Given the description of an element on the screen output the (x, y) to click on. 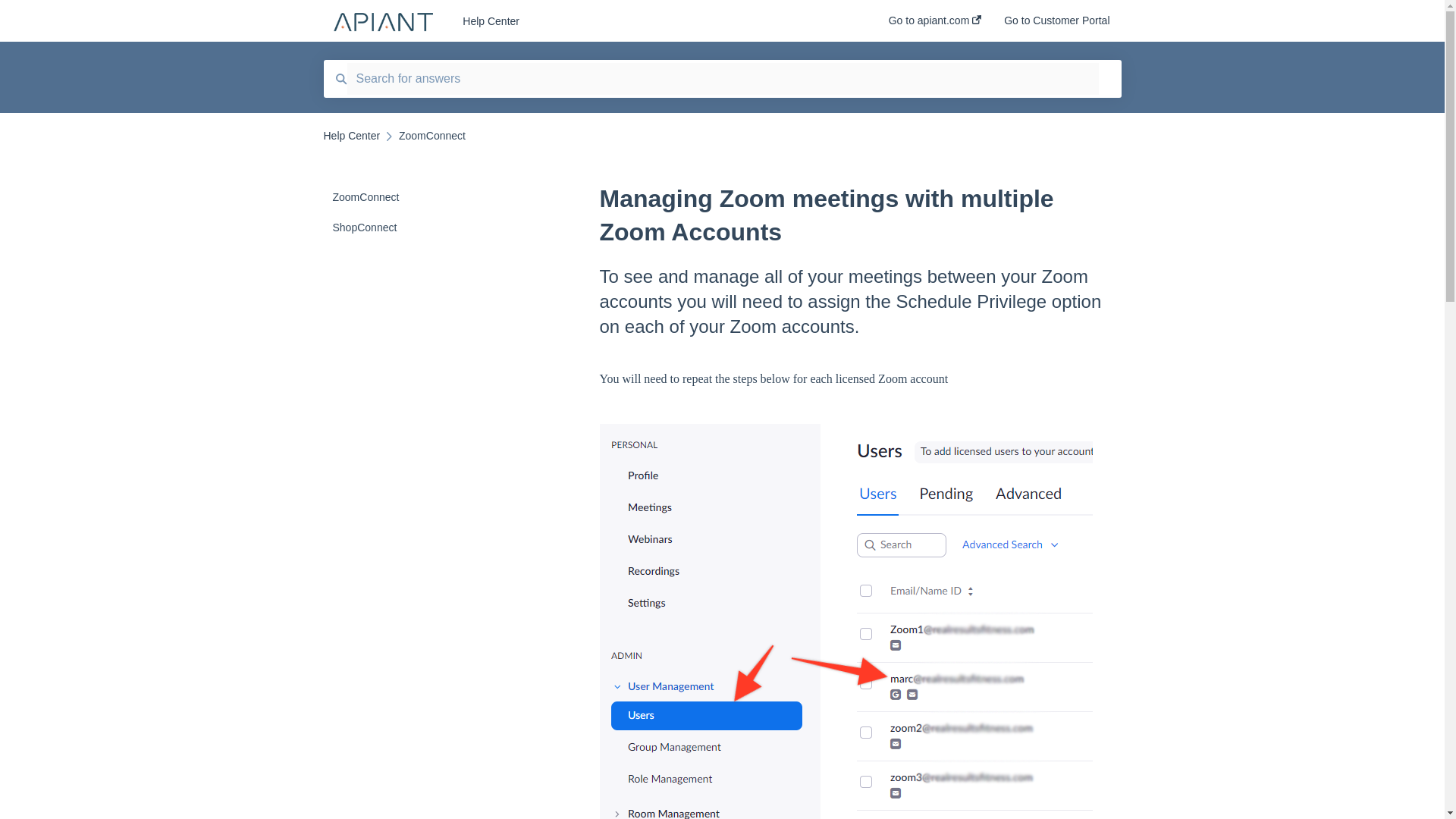
Go to apiant.com (934, 25)
ShopConnect (414, 227)
Go to Customer Portal (1056, 25)
ZoomConnect (414, 196)
Help Center (653, 21)
Help Center (351, 135)
